Given the description of an element on the screen output the (x, y) to click on. 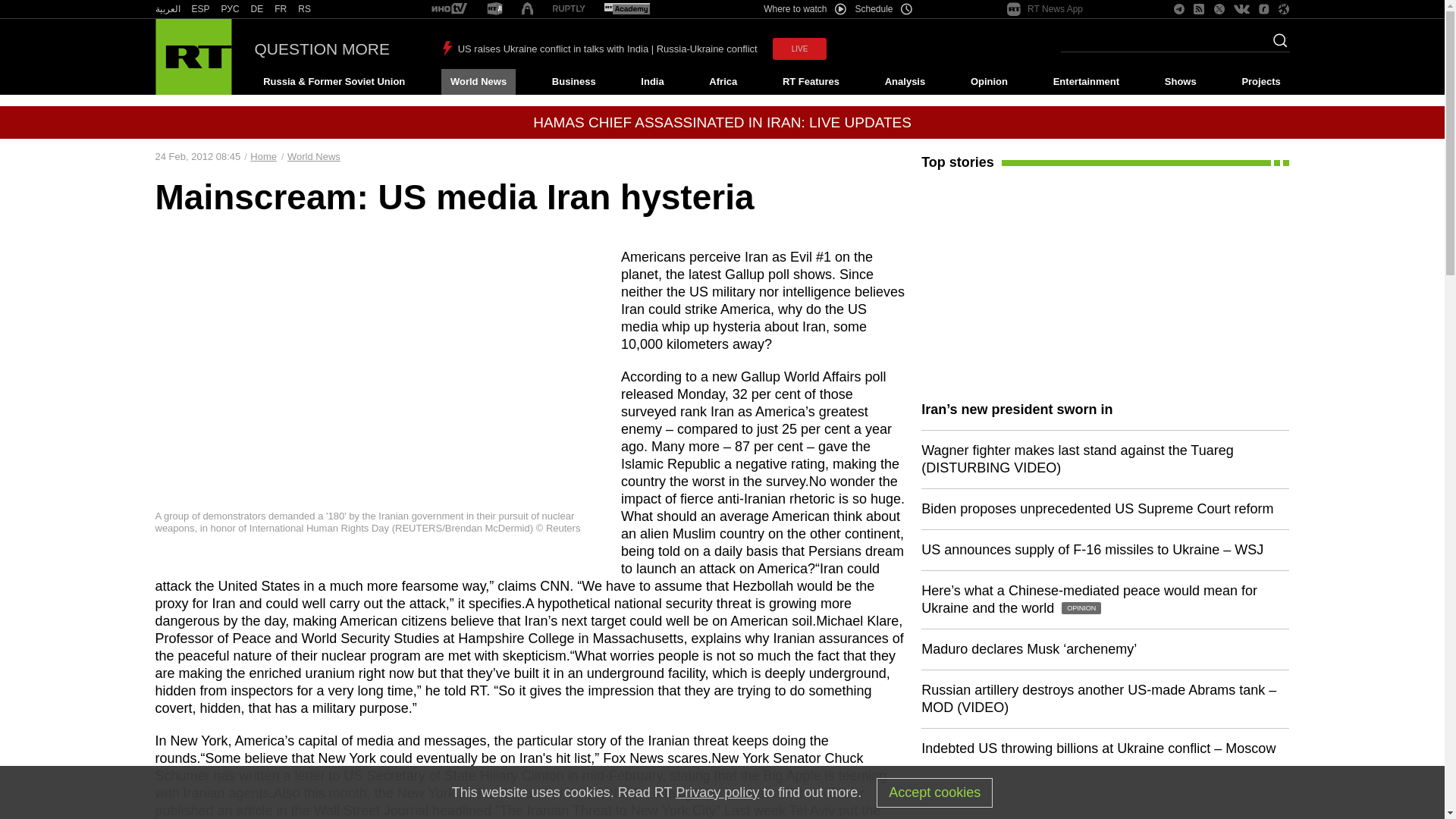
ESP (199, 9)
Projects (1261, 81)
World News (478, 81)
Search (1276, 44)
RT  (569, 8)
Analysis (905, 81)
Business (573, 81)
Opinion (988, 81)
RT  (256, 9)
RT  (230, 9)
India (651, 81)
RT  (494, 9)
Schedule (884, 9)
RT  (304, 9)
RT  (166, 9)
